Given the description of an element on the screen output the (x, y) to click on. 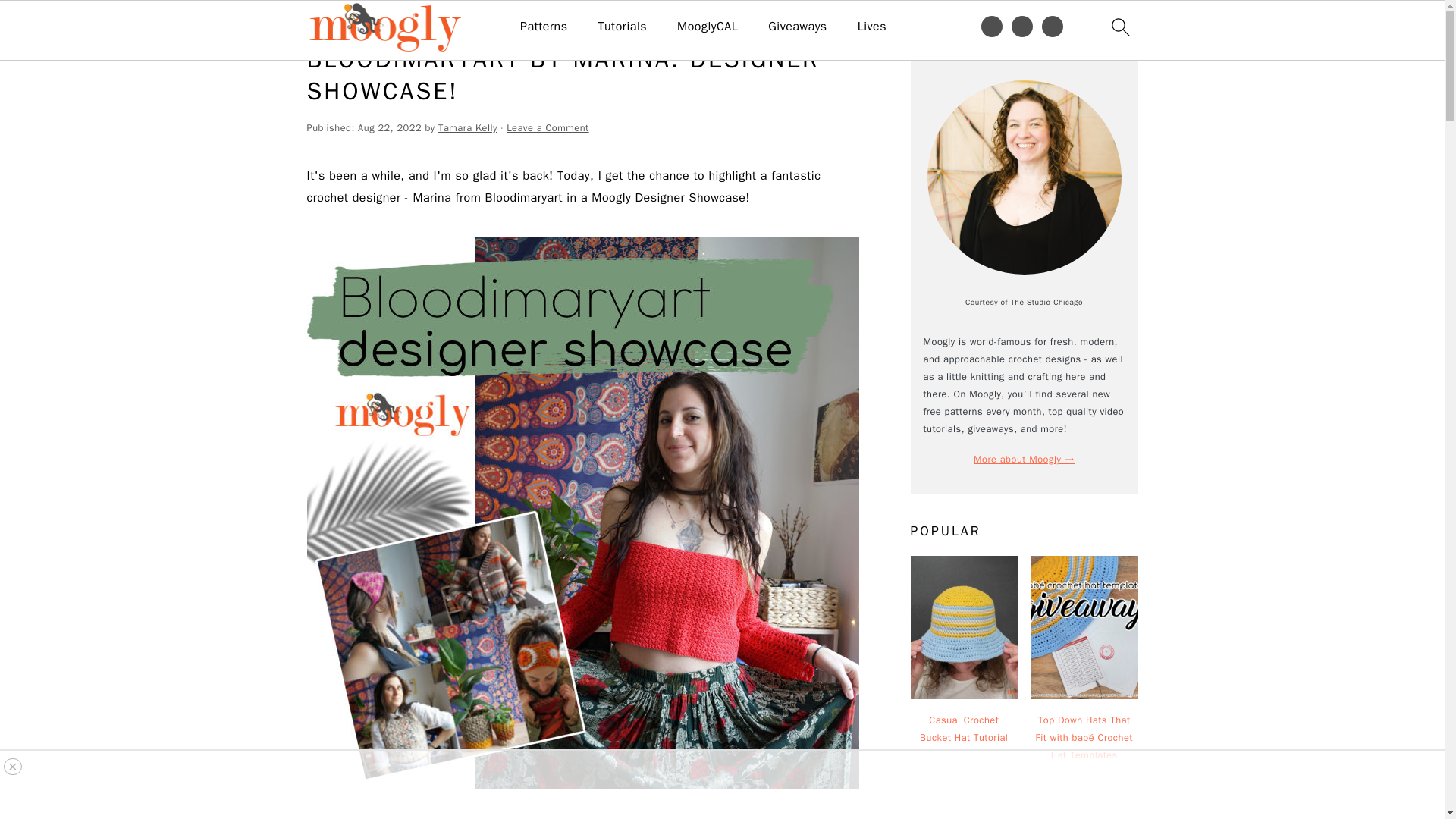
Home (319, 23)
Giveaways (797, 26)
Patterns (543, 26)
Tamara Kelly (467, 128)
Designer Showcase (388, 23)
Tutorials (621, 26)
search icon (1119, 26)
Leave a Comment (547, 128)
Lives (871, 26)
MooglyCAL (707, 26)
